Given the description of an element on the screen output the (x, y) to click on. 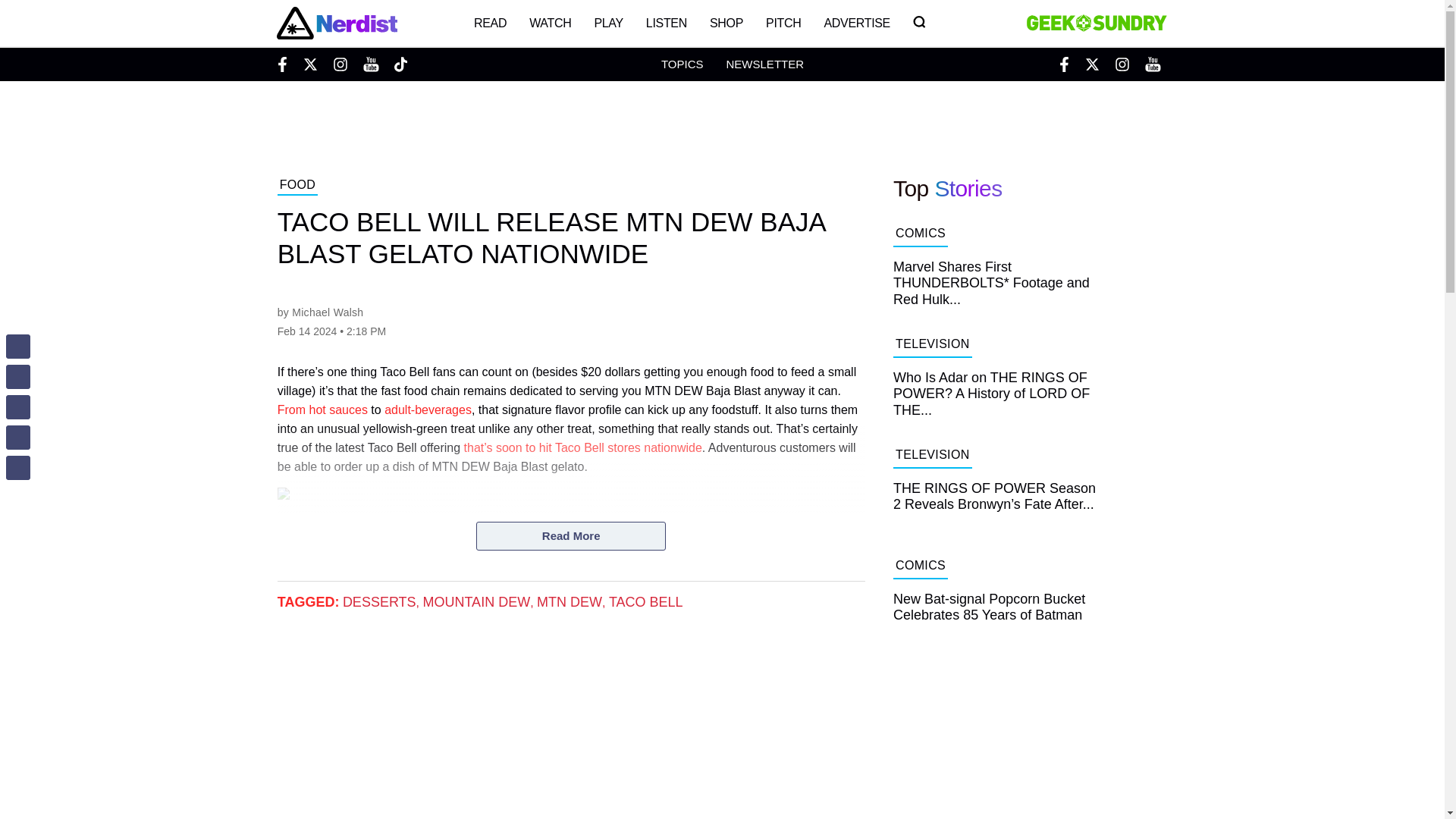
ADVERTISE (856, 22)
LISTEN (666, 22)
Youtube Nerdist (370, 63)
Topics (681, 63)
Twitter Nerdist (309, 63)
PITCH (783, 22)
WATCH (550, 22)
DESSERTS (379, 601)
NEWSLETTER (764, 63)
READ (490, 22)
